Given the description of an element on the screen output the (x, y) to click on. 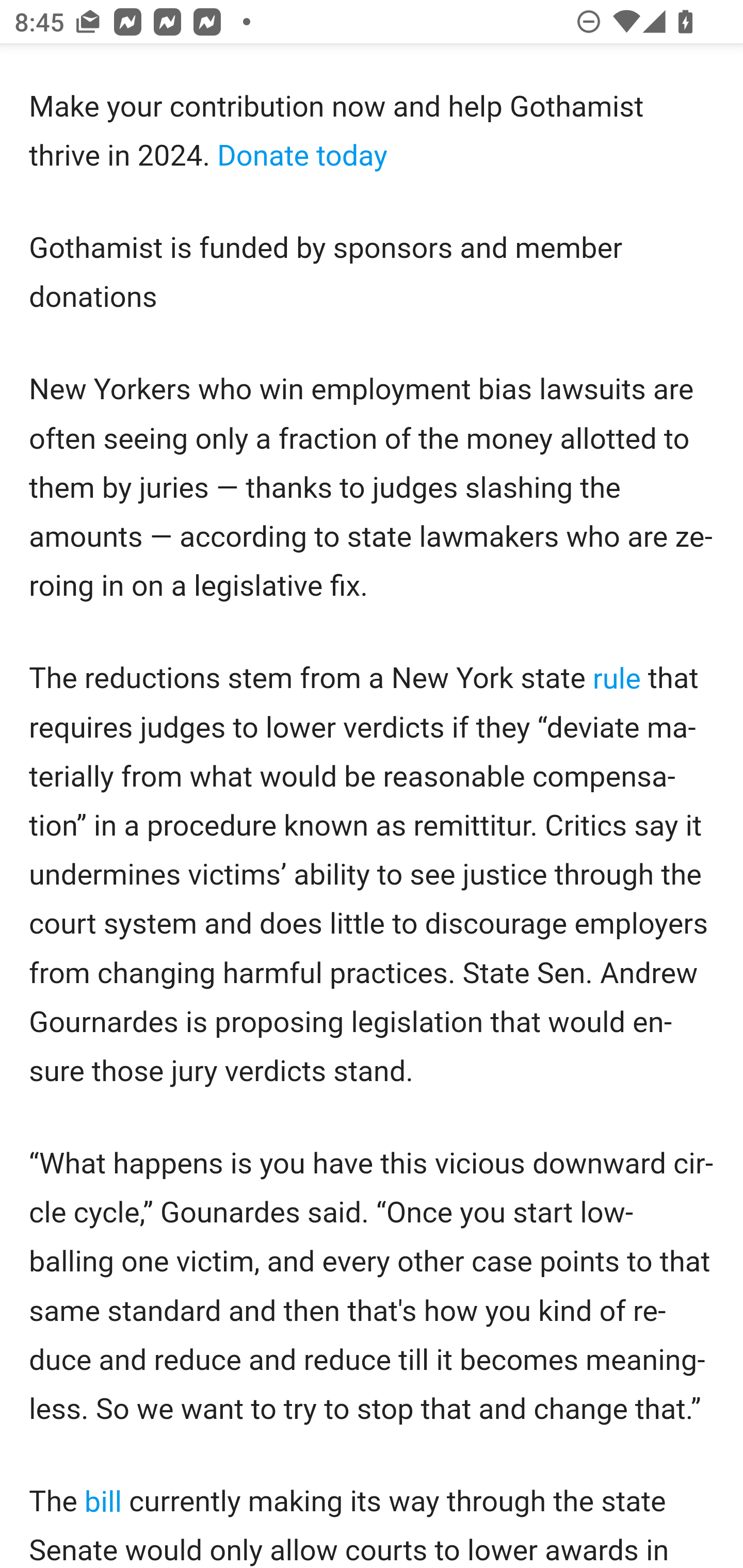
Donate today (301, 154)
rule (616, 678)
bill (102, 1501)
